Given the description of an element on the screen output the (x, y) to click on. 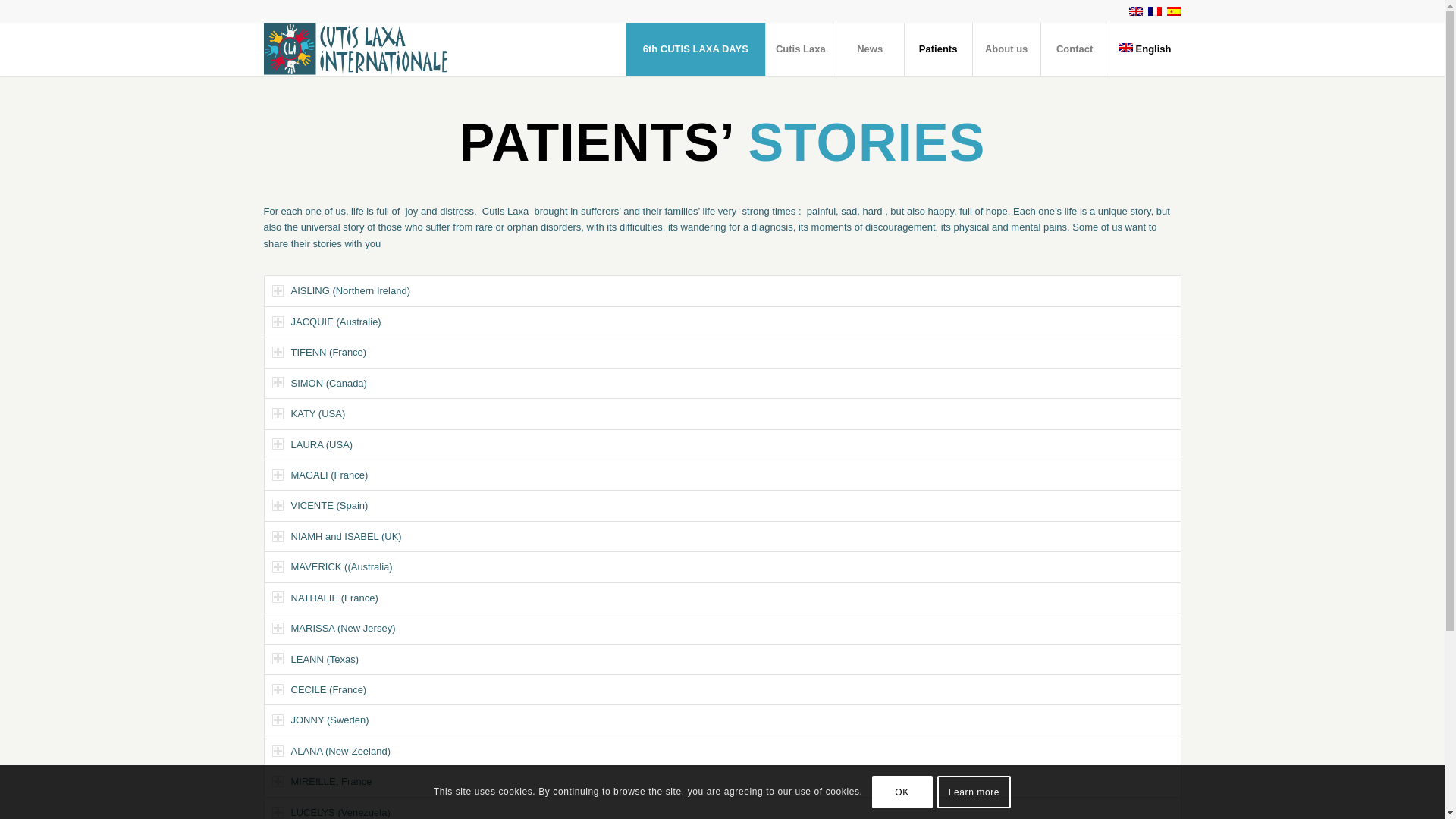
Learn more (974, 791)
Patients (938, 49)
6th CUTIS LAXA DAYS (695, 49)
English (1144, 49)
About us (1006, 49)
English (1144, 49)
Contact (1074, 49)
Cutis Laxa (800, 49)
OK (902, 791)
English (1135, 10)
News (869, 49)
